Given the description of an element on the screen output the (x, y) to click on. 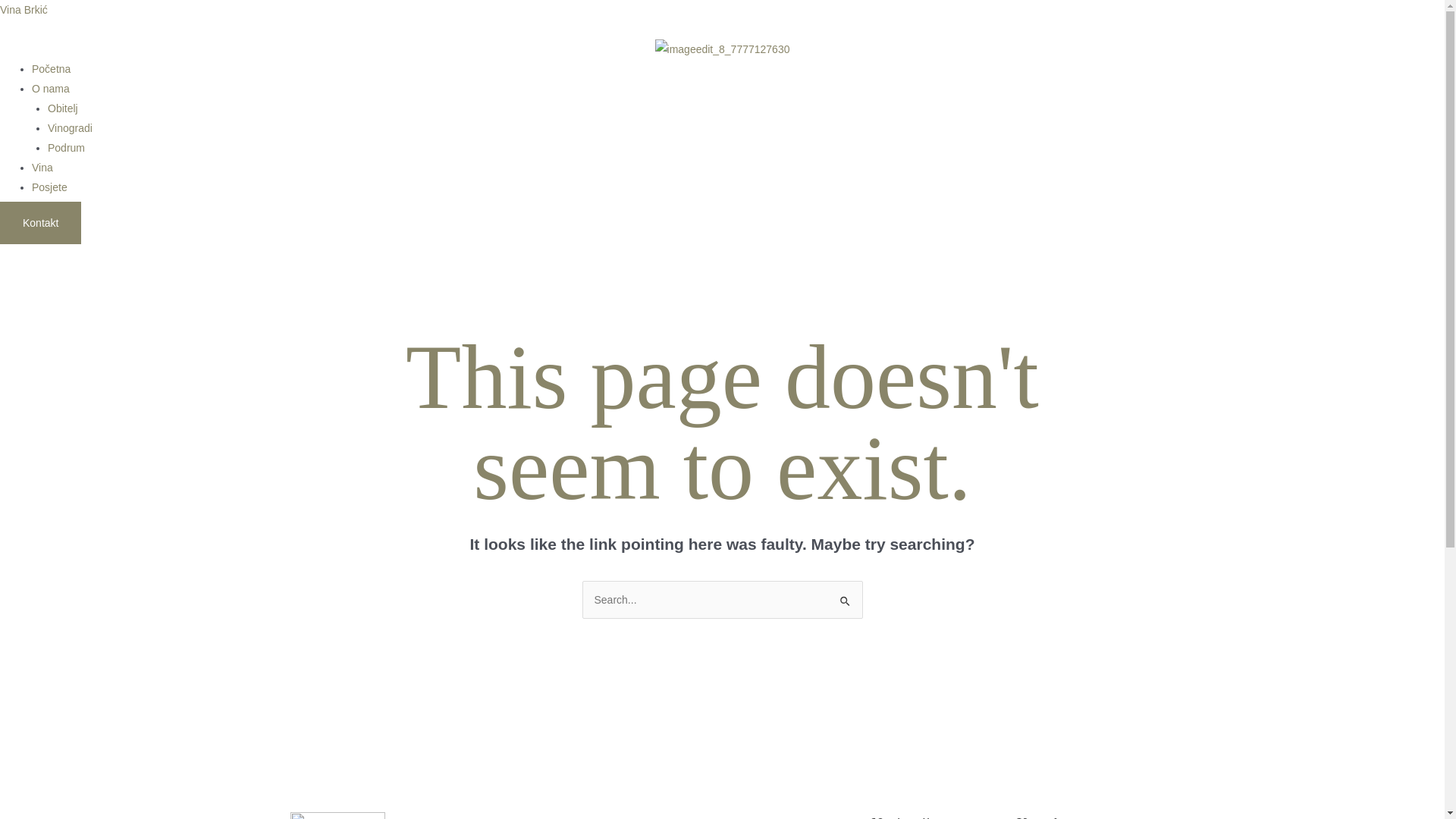
Vinogradi Element type: text (69, 128)
O nama Element type: text (50, 88)
Posjete Element type: text (49, 187)
Search Element type: text (845, 595)
Podrum Element type: text (65, 147)
imageedit_8_7777127630 Element type: hover (722, 49)
Kontakt Element type: text (40, 222)
Vina Element type: text (42, 167)
Obitelj Element type: text (62, 108)
